Given the description of an element on the screen output the (x, y) to click on. 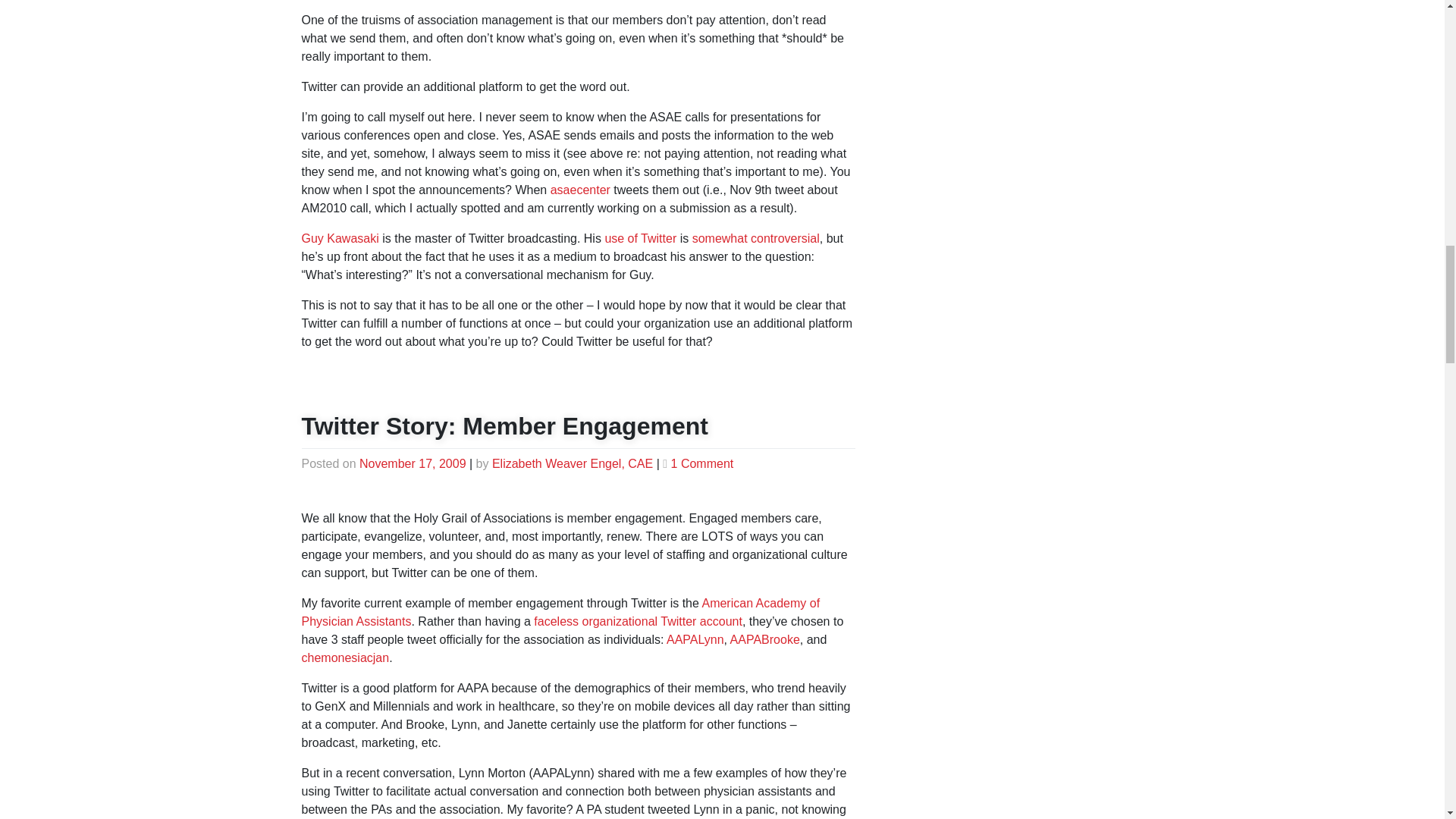
use of Twitter (640, 237)
asaecenter (580, 189)
somewhat controversial (756, 237)
Guy Kawasaki (339, 237)
Twitter Story: Member Engagement (504, 425)
